Given the description of an element on the screen output the (x, y) to click on. 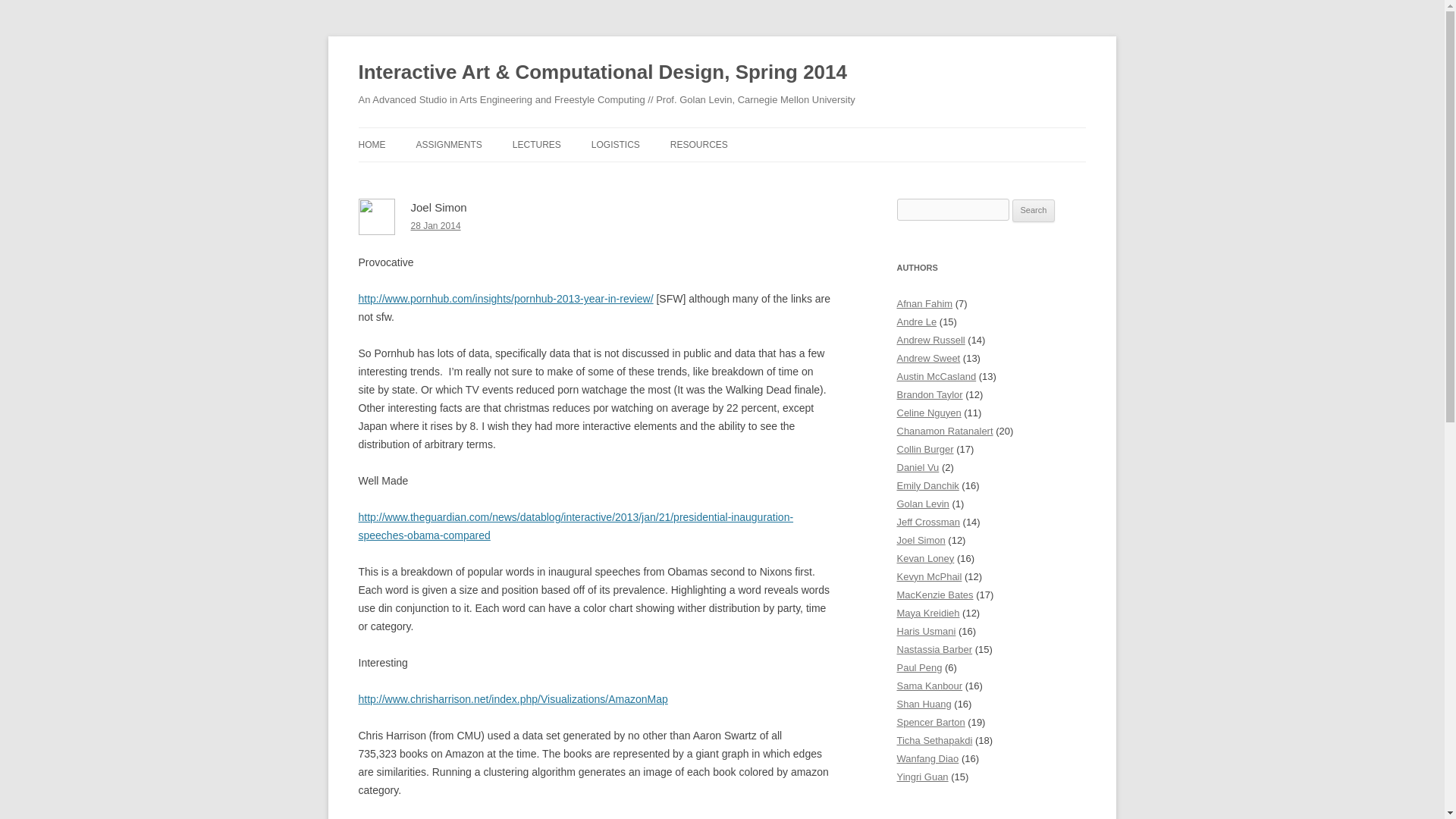
LECTURES (536, 144)
RESOURCES (698, 144)
Posts by Emily Danchik (927, 485)
Posts by Afnan Fahim (924, 303)
PornHub year in review. (505, 298)
Posts by Celine Nguyen (928, 412)
Posts by Chanamon Ratanalert (944, 430)
Posts by Andrew Russell (929, 339)
Skip to content (757, 132)
Posts by Brandon Taylor (929, 394)
